Given the description of an element on the screen output the (x, y) to click on. 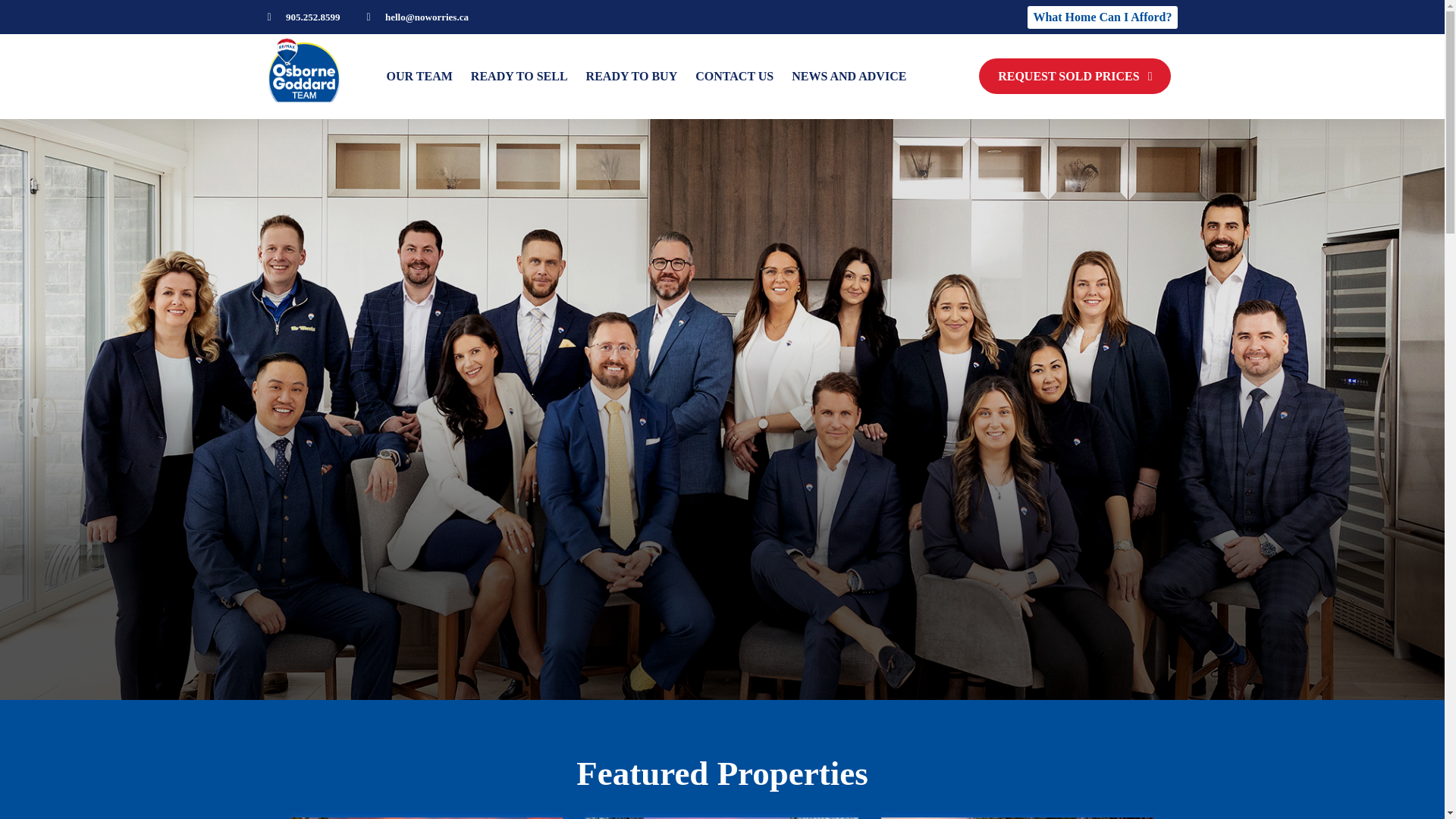
What Home Can I Afford? (1101, 16)
905.252.8599 (302, 17)
READY TO BUY (632, 76)
READY TO SELL (518, 76)
NEWS AND ADVICE (848, 76)
CONTACT US (734, 76)
OUR TEAM (419, 76)
